Given the description of an element on the screen output the (x, y) to click on. 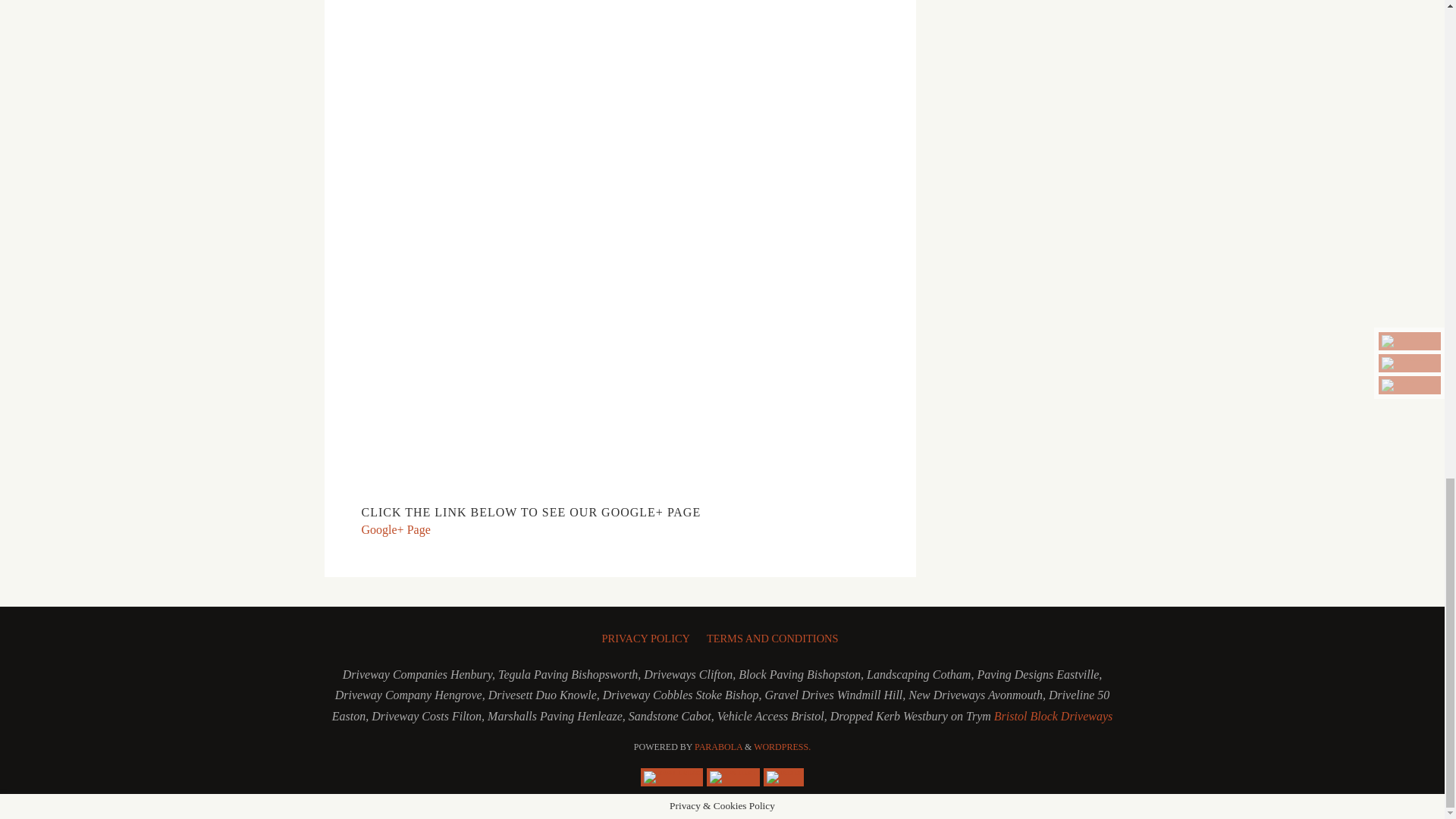
Semantic Personal Publishing Platform (782, 747)
Parabola Theme by Cryout Creations (718, 747)
WORDPRESS. (782, 747)
Bristol Block Driveways (1053, 716)
PARABOLA (718, 747)
Twitter (733, 777)
TERMS AND CONDITIONS (775, 636)
PRIVACY POLICY (648, 636)
YouTube (671, 777)
RSS (782, 777)
